Given the description of an element on the screen output the (x, y) to click on. 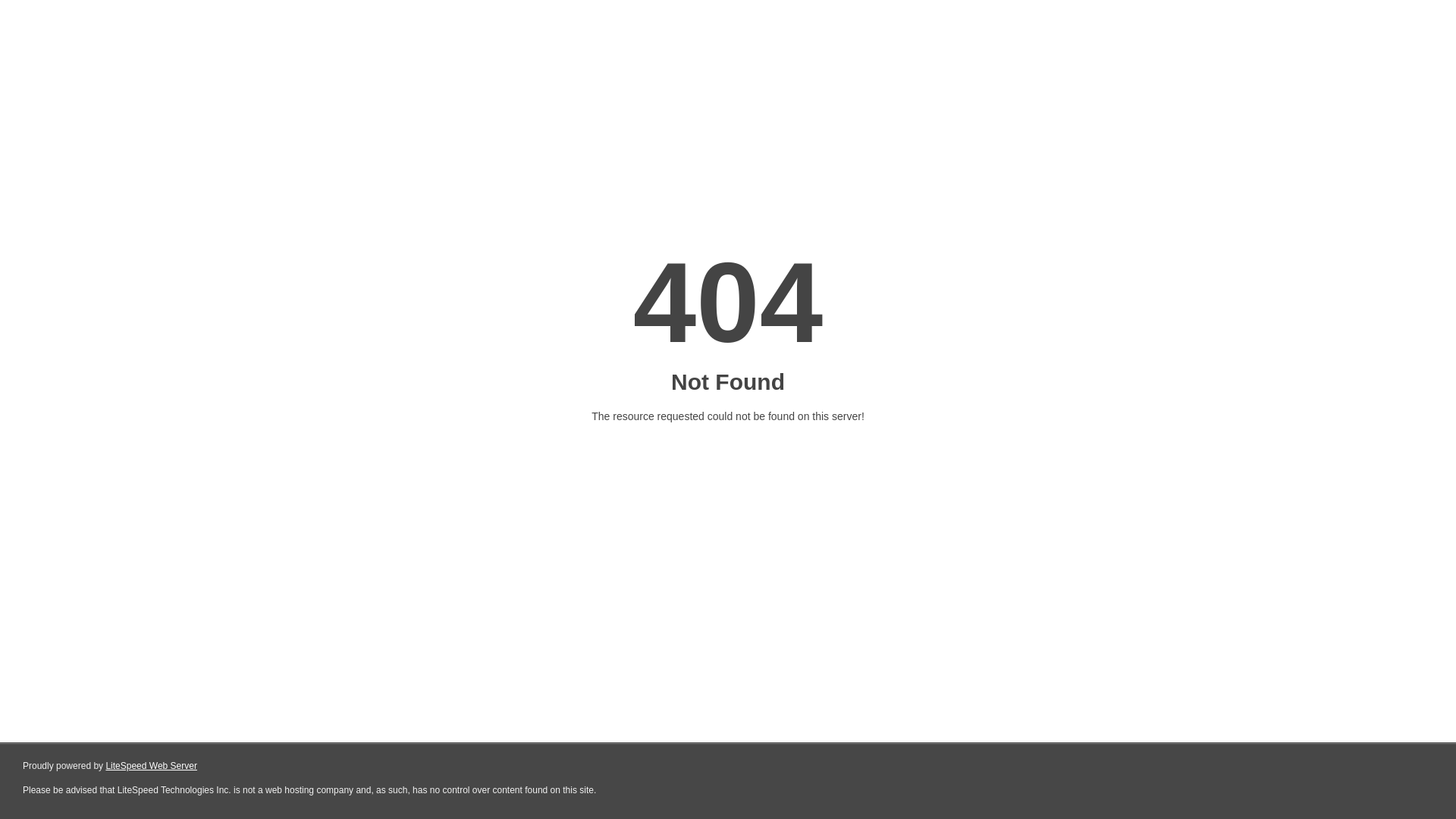
LiteSpeed Web Server Element type: text (151, 765)
